Given the description of an element on the screen output the (x, y) to click on. 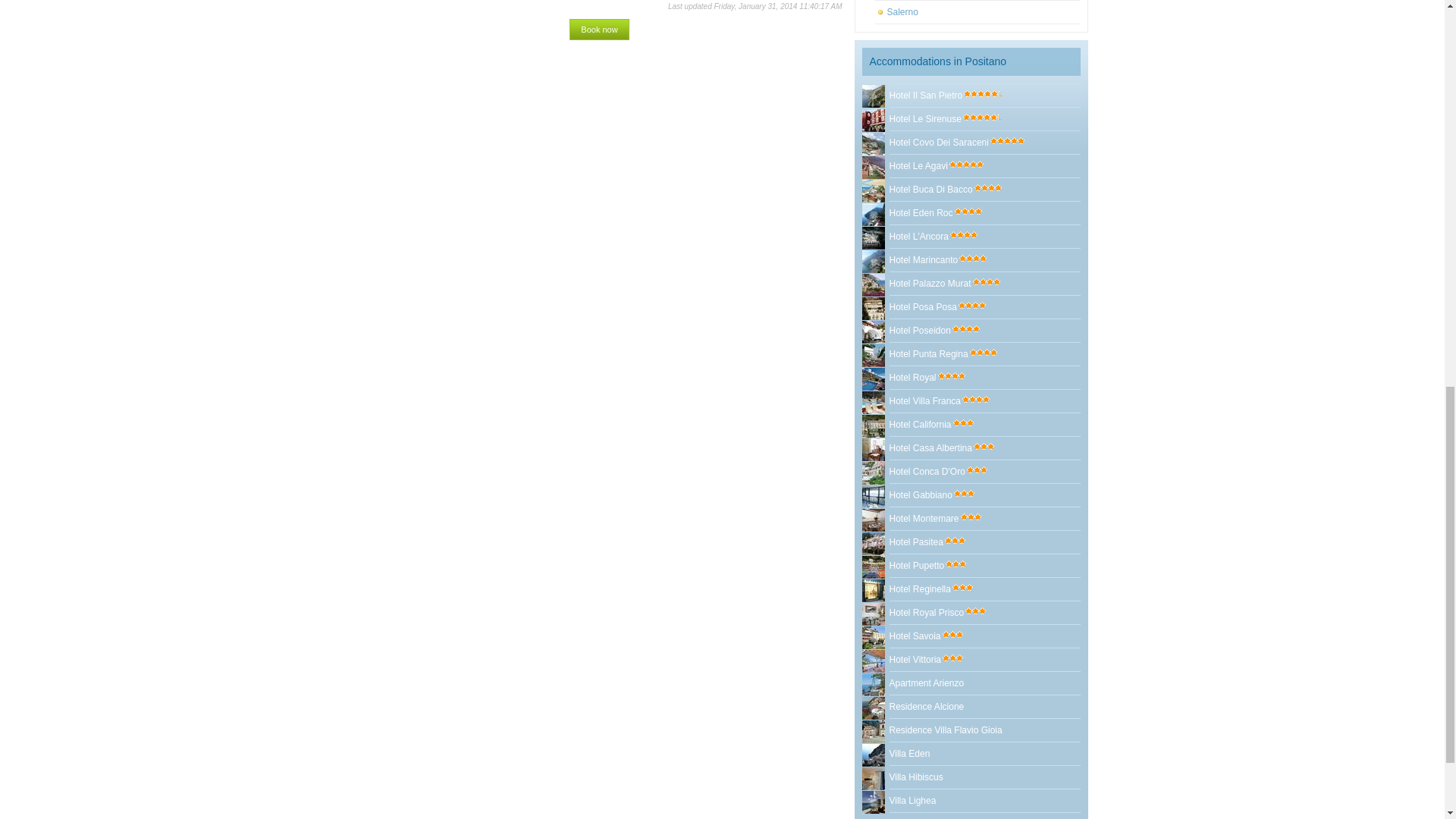
Book now (598, 29)
